Given the description of an element on the screen output the (x, y) to click on. 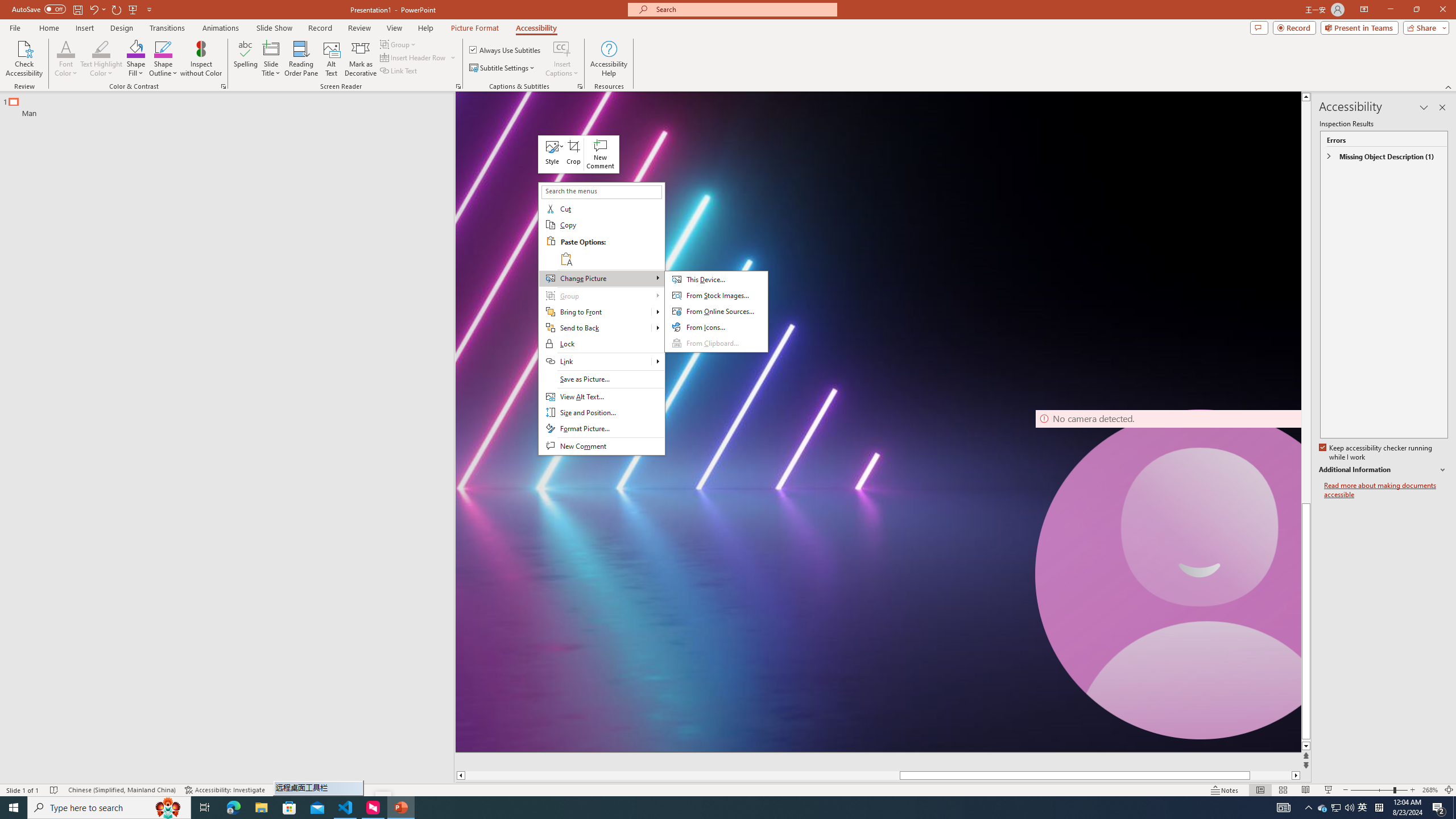
Mark as Decorative (360, 58)
Send to Back (600, 327)
Zoom 268% (1430, 790)
Bring to Front (600, 312)
Color & Contrast (223, 85)
